Given the description of an element on the screen output the (x, y) to click on. 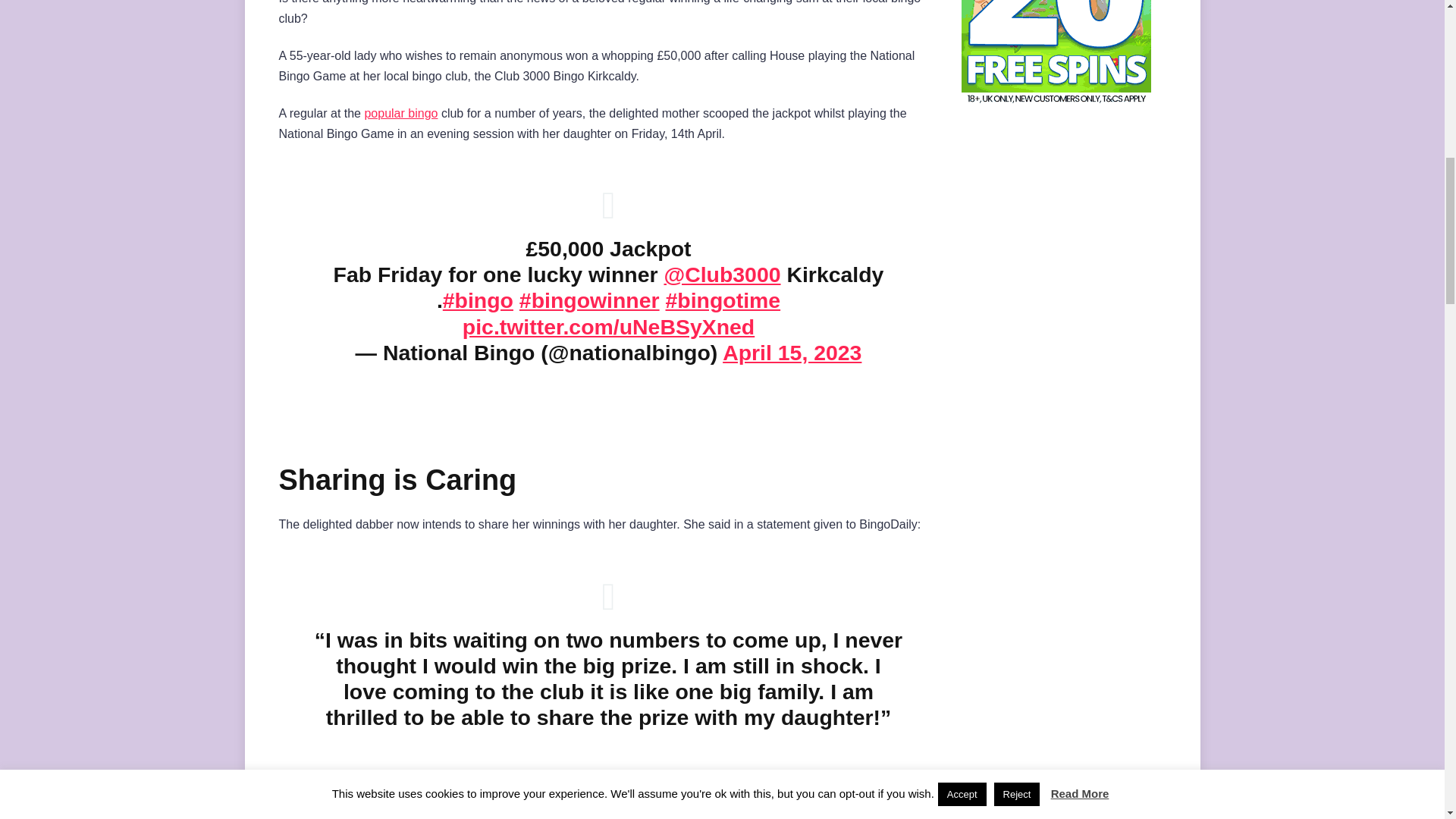
April 15, 2023 (791, 352)
jackpot win for the Club 3000 Cwmbran (500, 817)
popular bingo (401, 113)
